Given the description of an element on the screen output the (x, y) to click on. 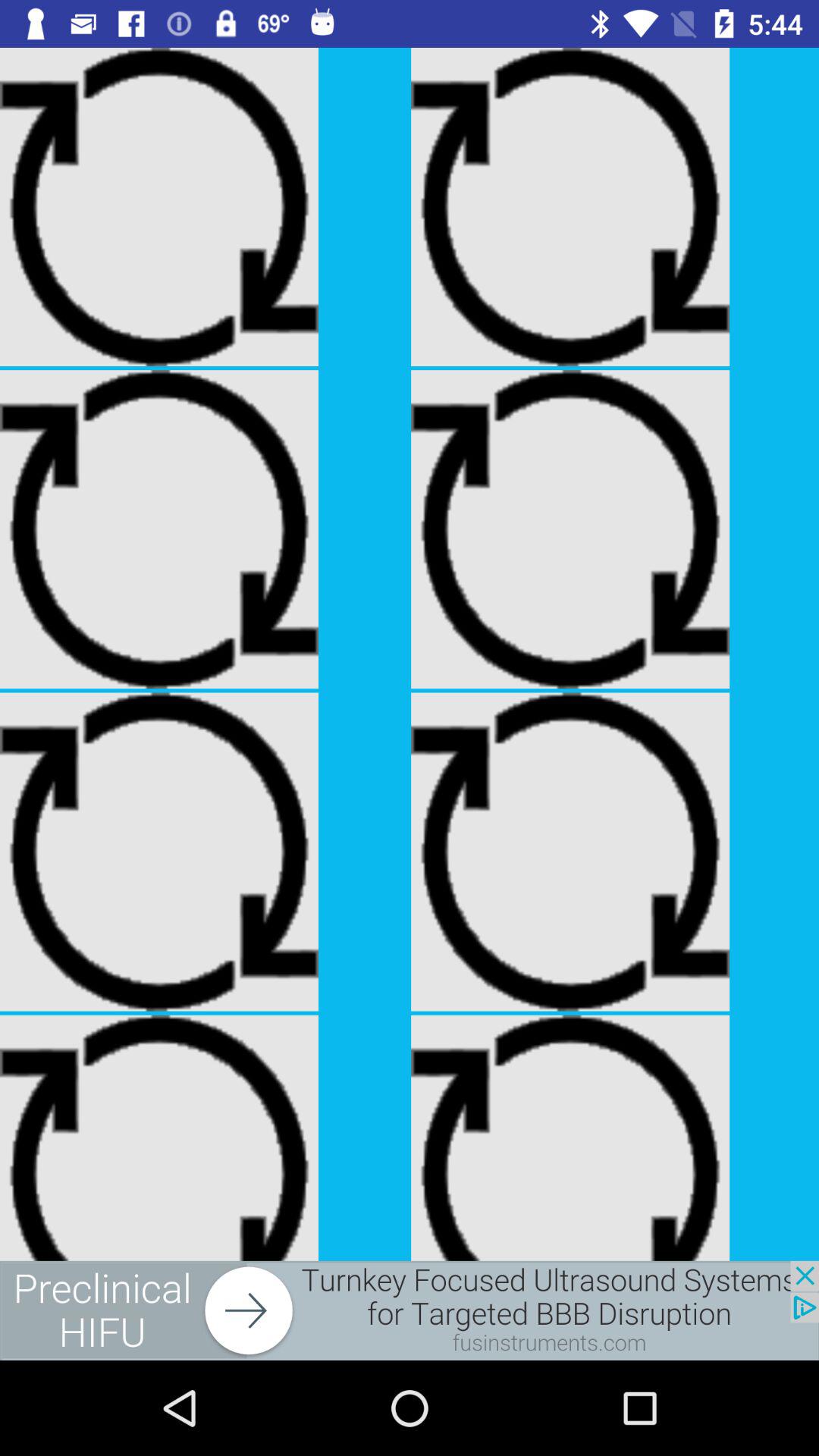
advertisement image (409, 1310)
